Given the description of an element on the screen output the (x, y) to click on. 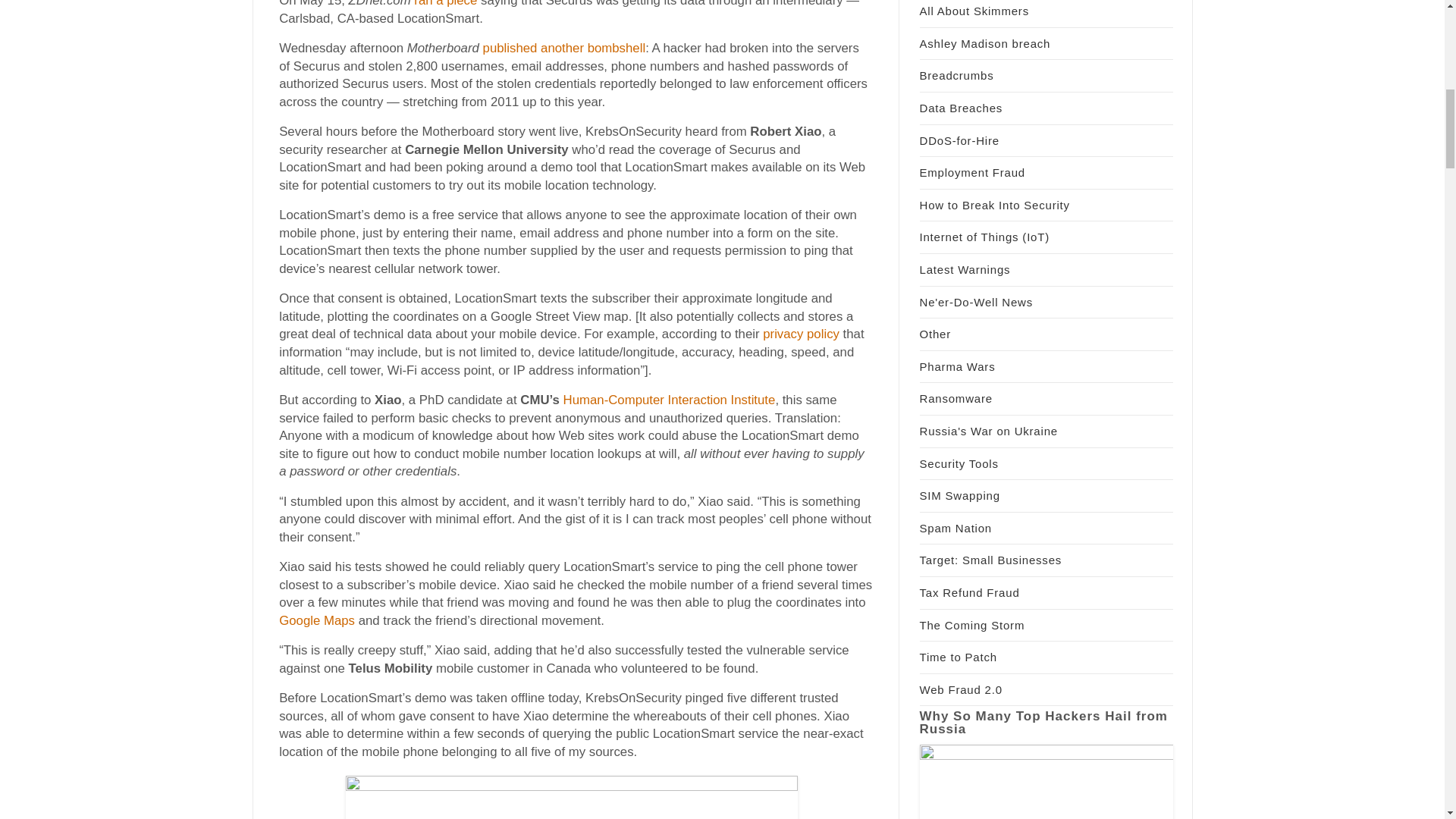
published another bombshell (564, 47)
ran a piece (445, 3)
Google Maps (317, 620)
privacy policy (801, 333)
Human-Computer Interaction Institute (669, 400)
